Given the description of an element on the screen output the (x, y) to click on. 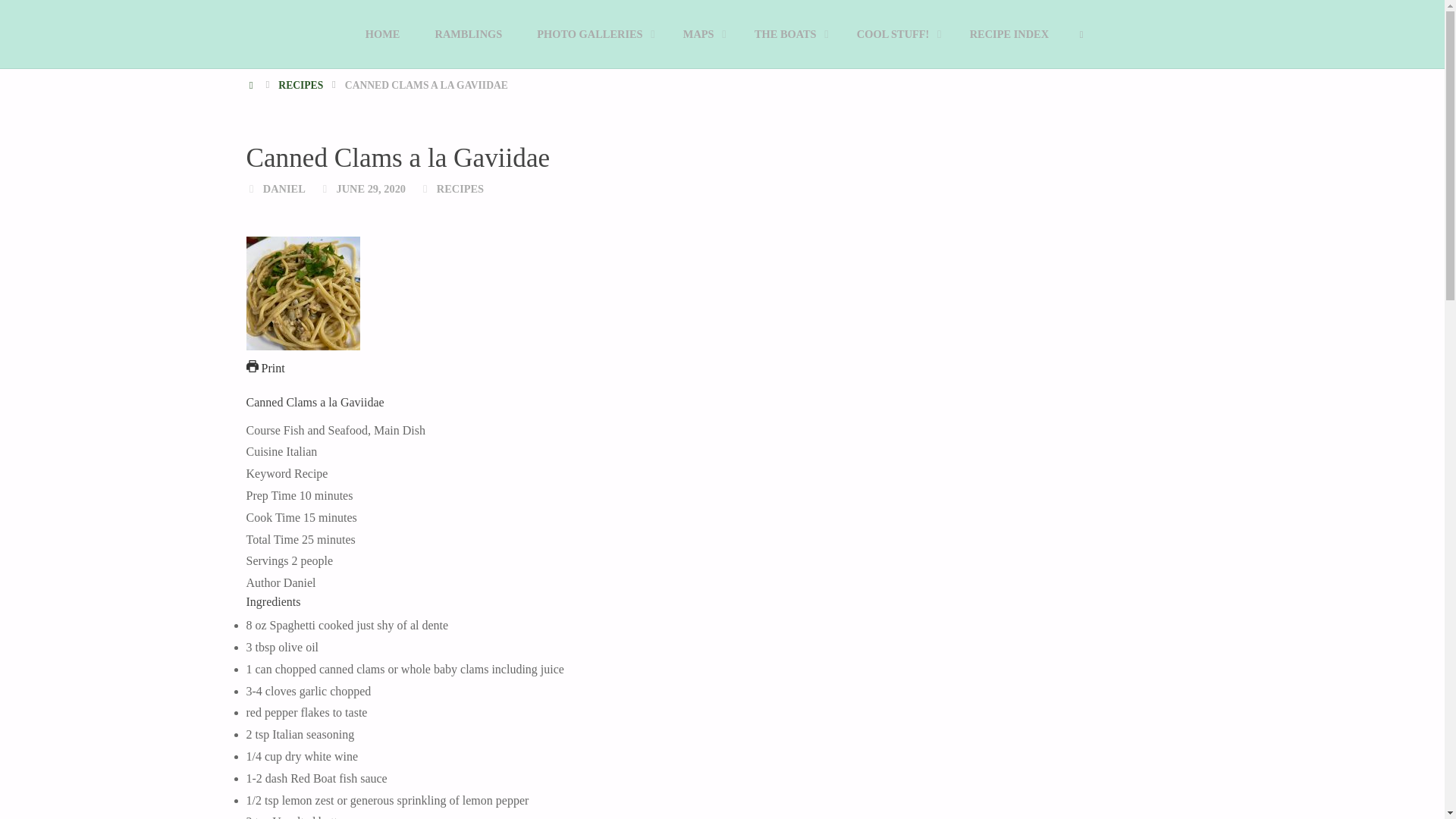
Adventures of a Wandering Loon (282, 60)
Home (252, 84)
View all posts by Daniel (284, 188)
